Given the description of an element on the screen output the (x, y) to click on. 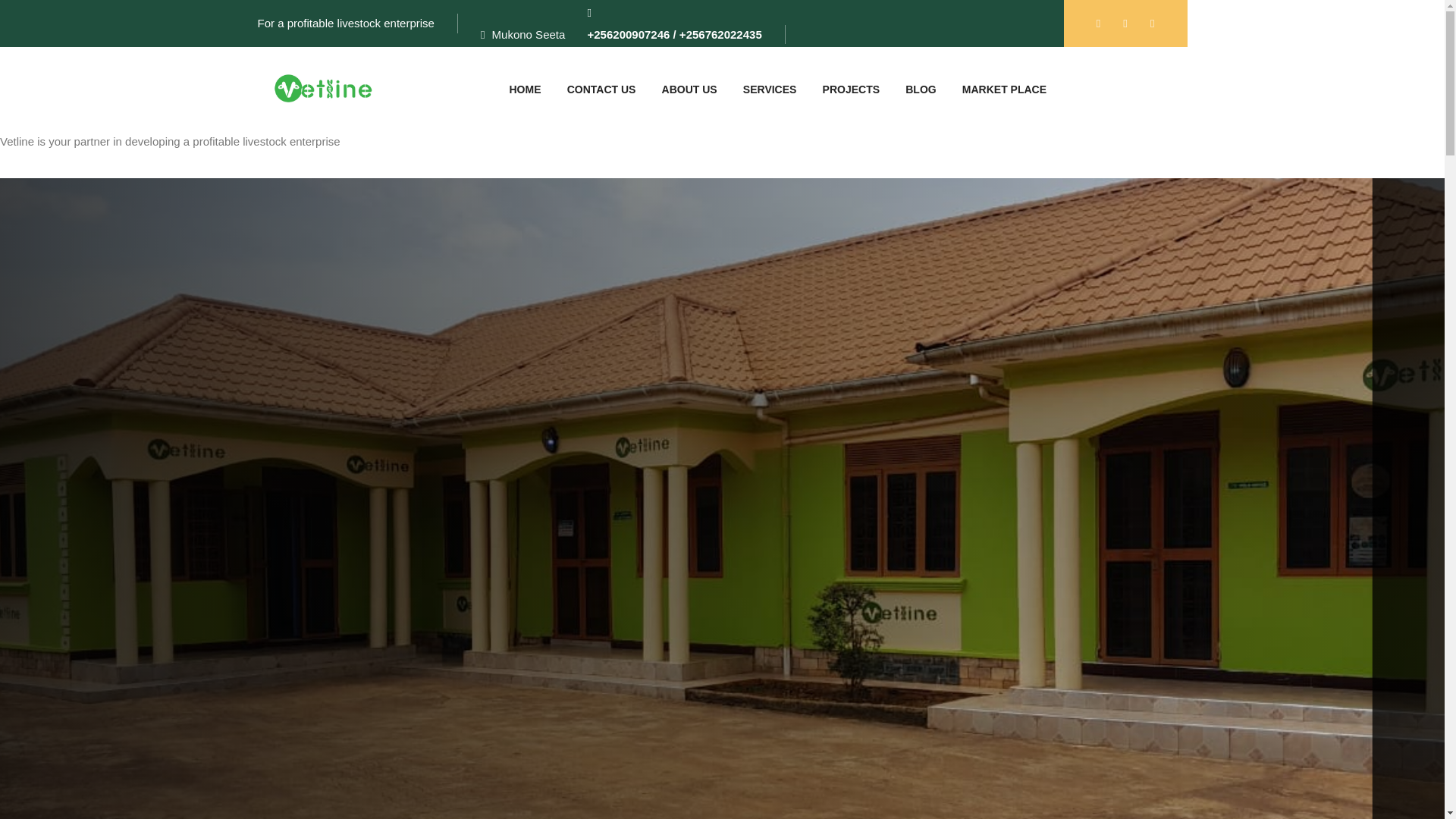
About Us (689, 89)
Services (770, 89)
MARKET PLACE (1004, 89)
PROJECTS (850, 89)
CONTACT US (601, 89)
MARKET PLACE (1004, 89)
SERVICES (770, 89)
Contact Us (601, 89)
Projects (850, 89)
ABOUT US (689, 89)
